Given the description of an element on the screen output the (x, y) to click on. 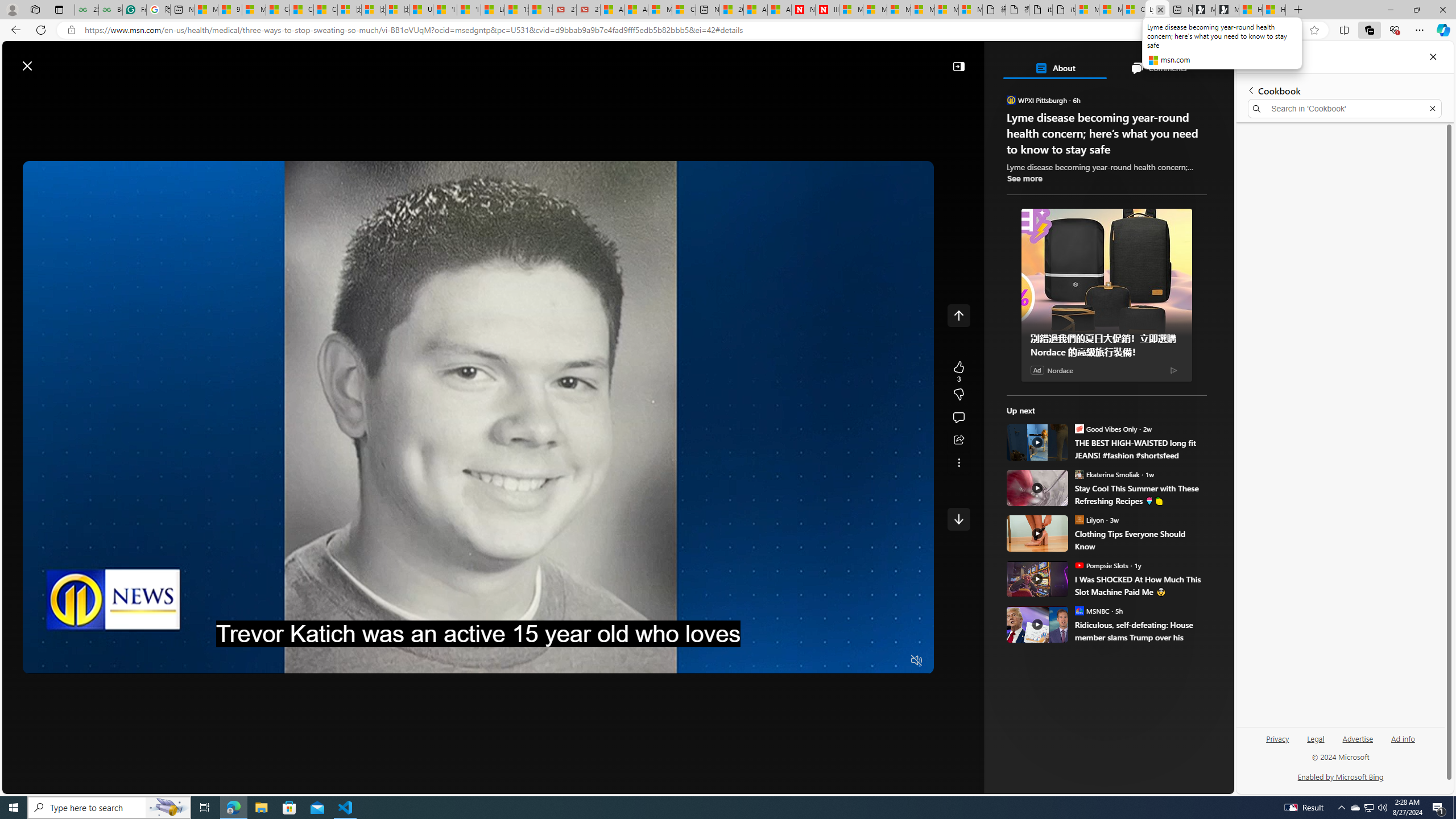
3 (958, 394)
Microsoft account | Privacy (1110, 9)
Start the conversation (958, 417)
Legal (1315, 738)
25 Basic Linux Commands For Beginners - GeeksforGeeks (86, 9)
Back (13, 29)
Skip to footer (46, 59)
Class: control (958, 518)
Comments (1157, 67)
Collections (1369, 29)
Discover (217, 92)
15 Ways Modern Life Contradicts the Teachings of Jesus (540, 9)
Cloud Computing Services | Microsoft Azure (683, 9)
